Given the description of an element on the screen output the (x, y) to click on. 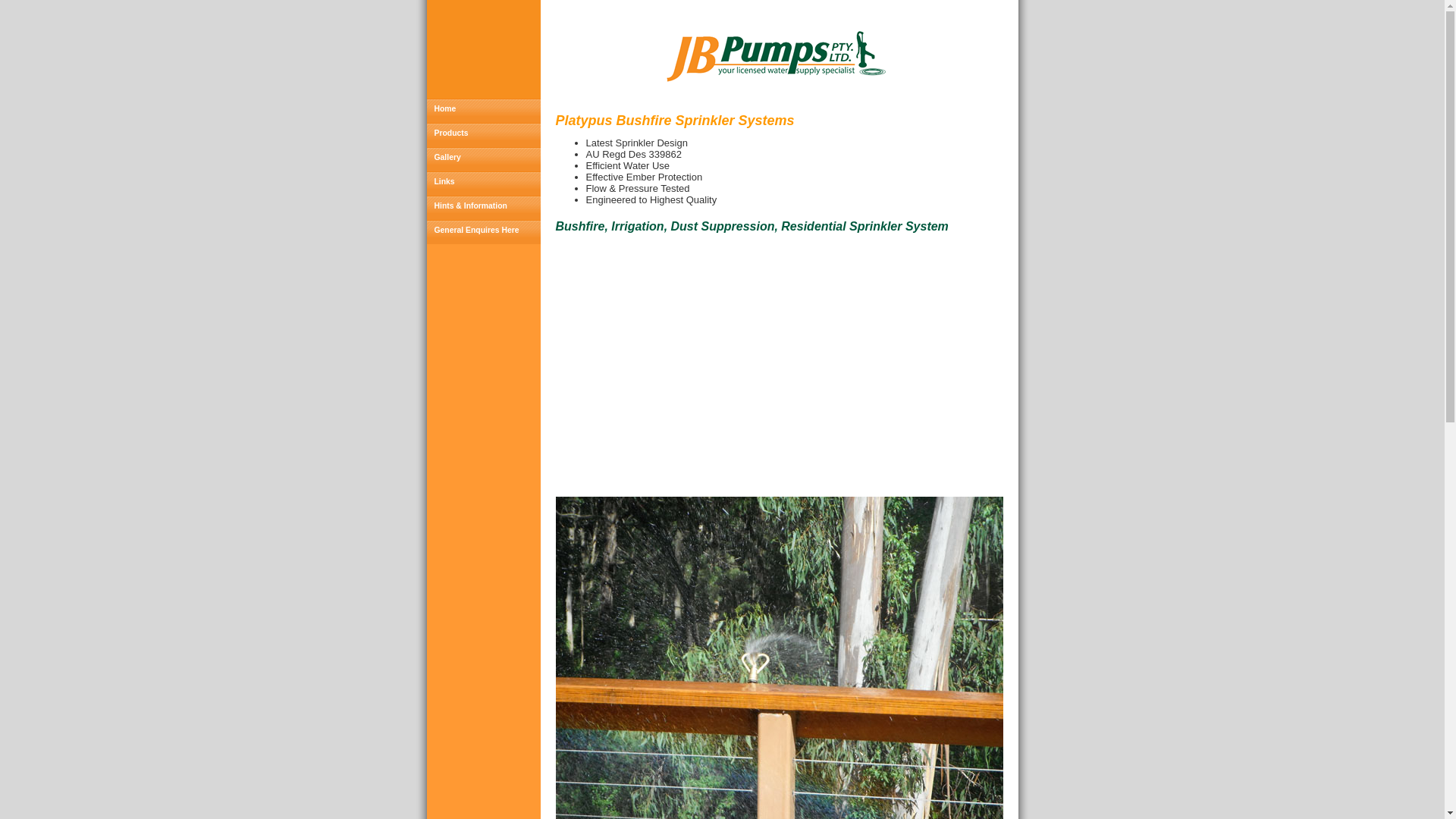
Hints & Information Element type: text (482, 207)
Links Element type: text (482, 183)
Gallery Element type: text (482, 159)
Products Element type: text (482, 134)
General Enquires Here Element type: text (482, 231)
Home Element type: text (482, 110)
